Given the description of an element on the screen output the (x, y) to click on. 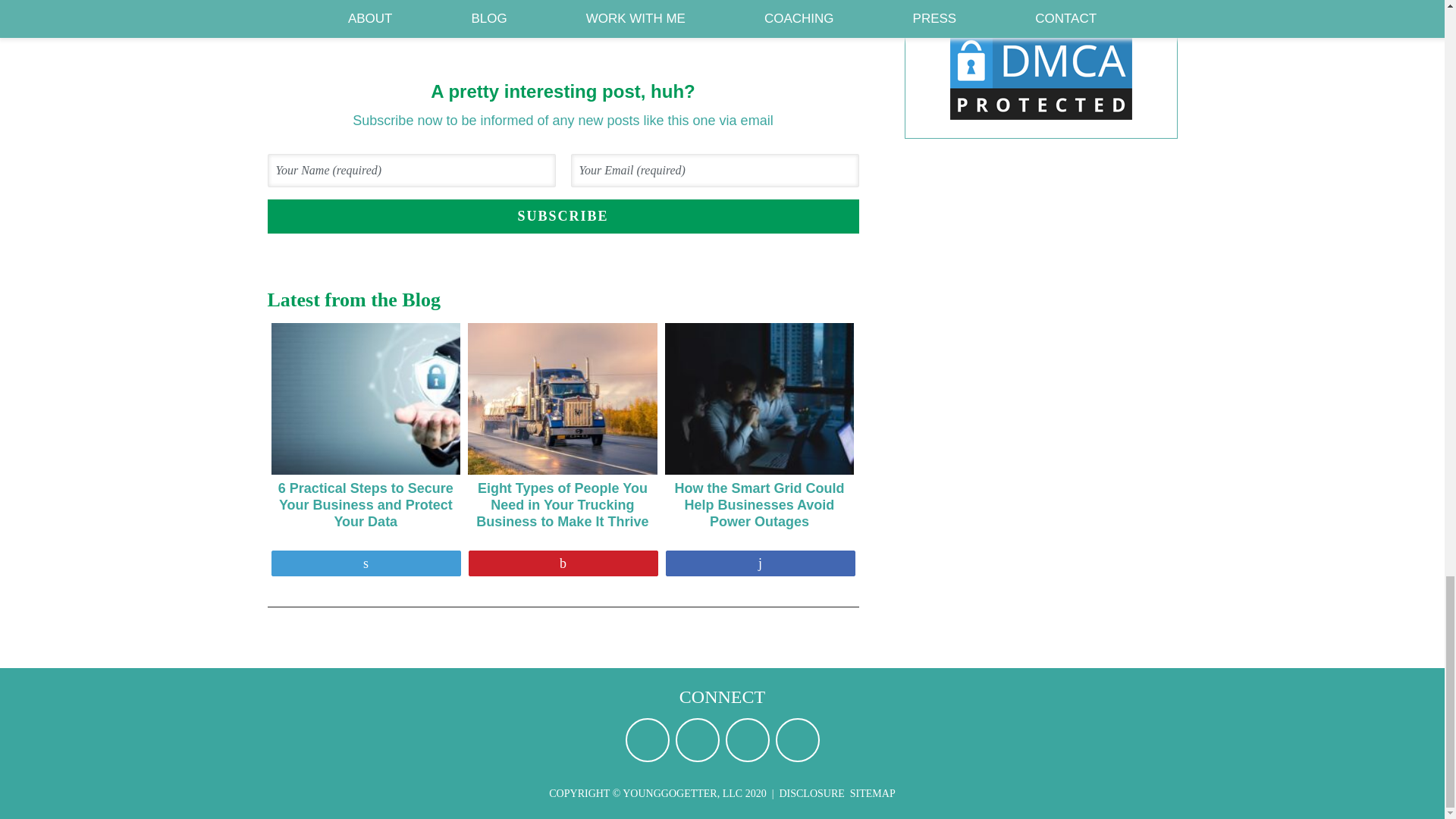
Subscribe (562, 216)
How the Smart Grid Could Help Businesses Avoid Power Outages (759, 428)
Subscribe (562, 216)
DMCA.com Protection Status (1040, 119)
